Given the description of an element on the screen output the (x, y) to click on. 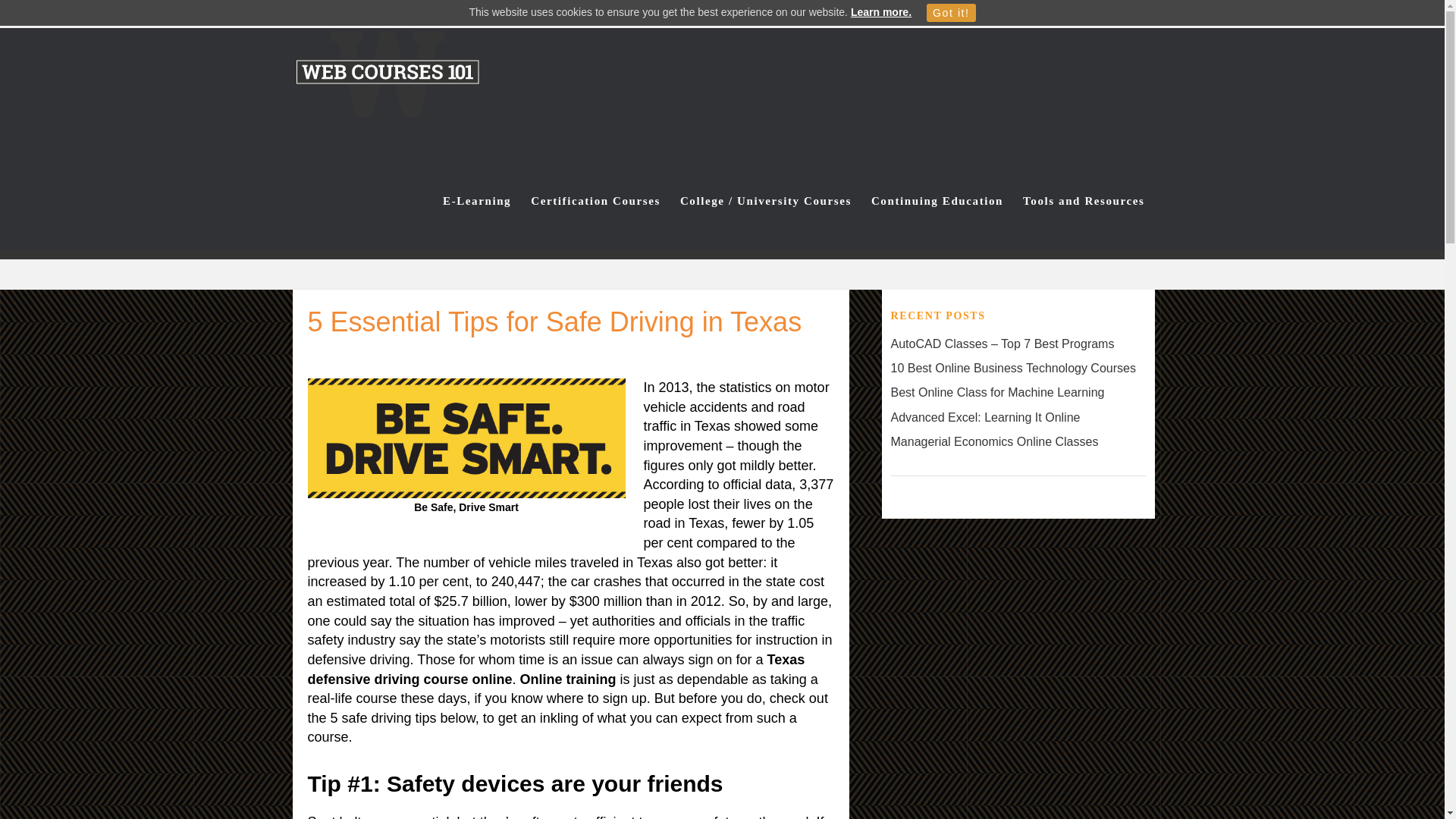
Tools and Resources (1083, 201)
Best Online Class for Machine Learning (996, 391)
Continuing Education (937, 201)
Managerial Economics Online Classes (993, 440)
WebCourses101.com (425, 89)
Got it! (950, 13)
E-Learning (476, 201)
Certification Courses (595, 201)
Learn more. (880, 11)
Advanced Excel: Learning It Online (984, 417)
10 Best Online Business Technology Courses (1012, 367)
